Given the description of an element on the screen output the (x, y) to click on. 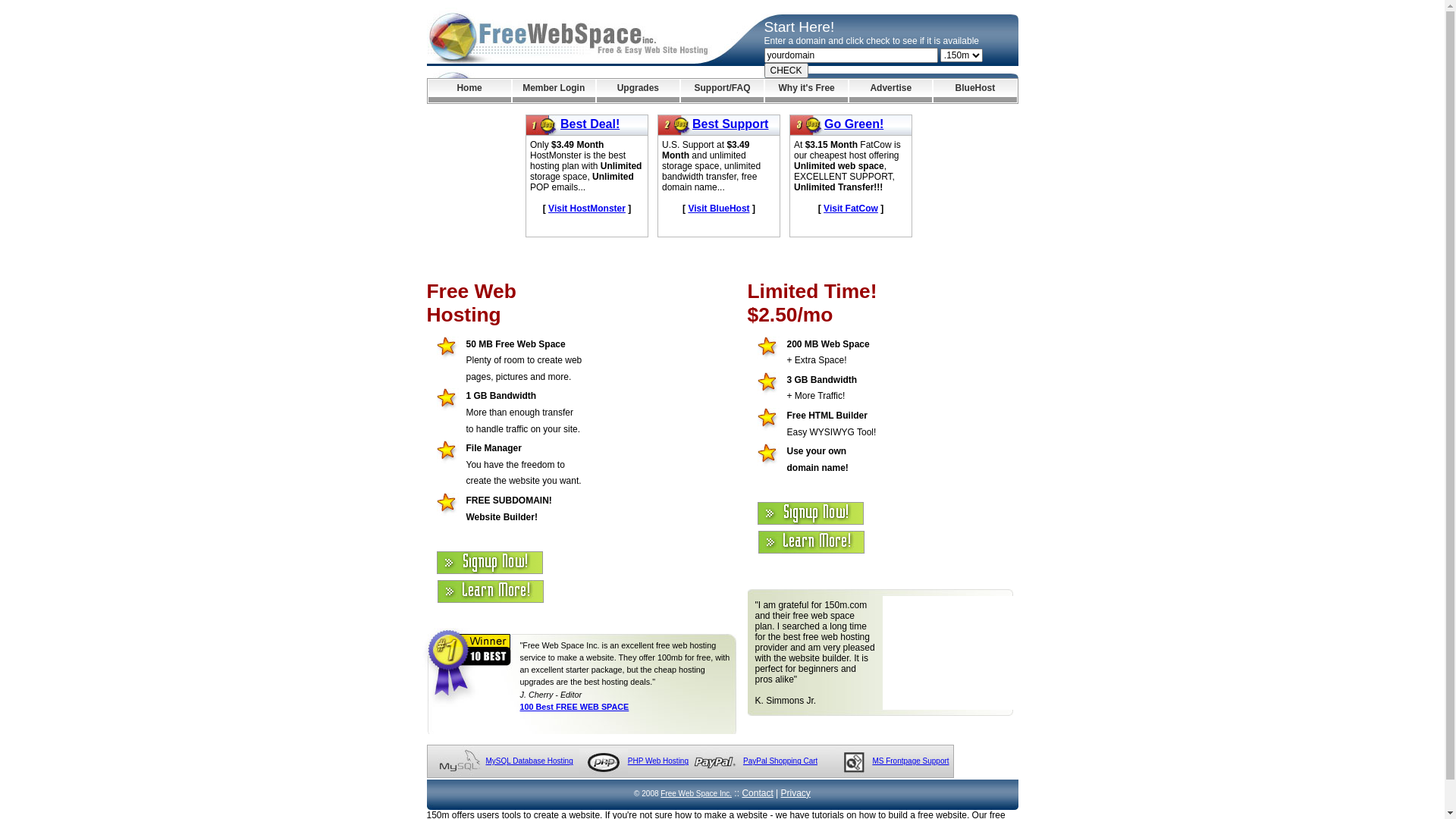
Contact Element type: text (756, 792)
BlueHost Element type: text (974, 90)
100 Best FREE WEB SPACE Element type: text (574, 706)
CHECK Element type: text (786, 70)
Why it's Free Element type: text (806, 90)
Home Element type: text (468, 90)
Upgrades Element type: text (637, 90)
Member Login Element type: text (553, 90)
MS Frontpage Support Element type: text (910, 760)
MySQL Database Hosting Element type: text (528, 760)
Free Web Space Inc. Element type: text (695, 793)
Support/FAQ Element type: text (721, 90)
PayPal Shopping Cart Element type: text (780, 760)
Privacy Element type: text (795, 792)
Advertise Element type: text (890, 90)
PHP Web Hosting Element type: text (657, 760)
